Given the description of an element on the screen output the (x, y) to click on. 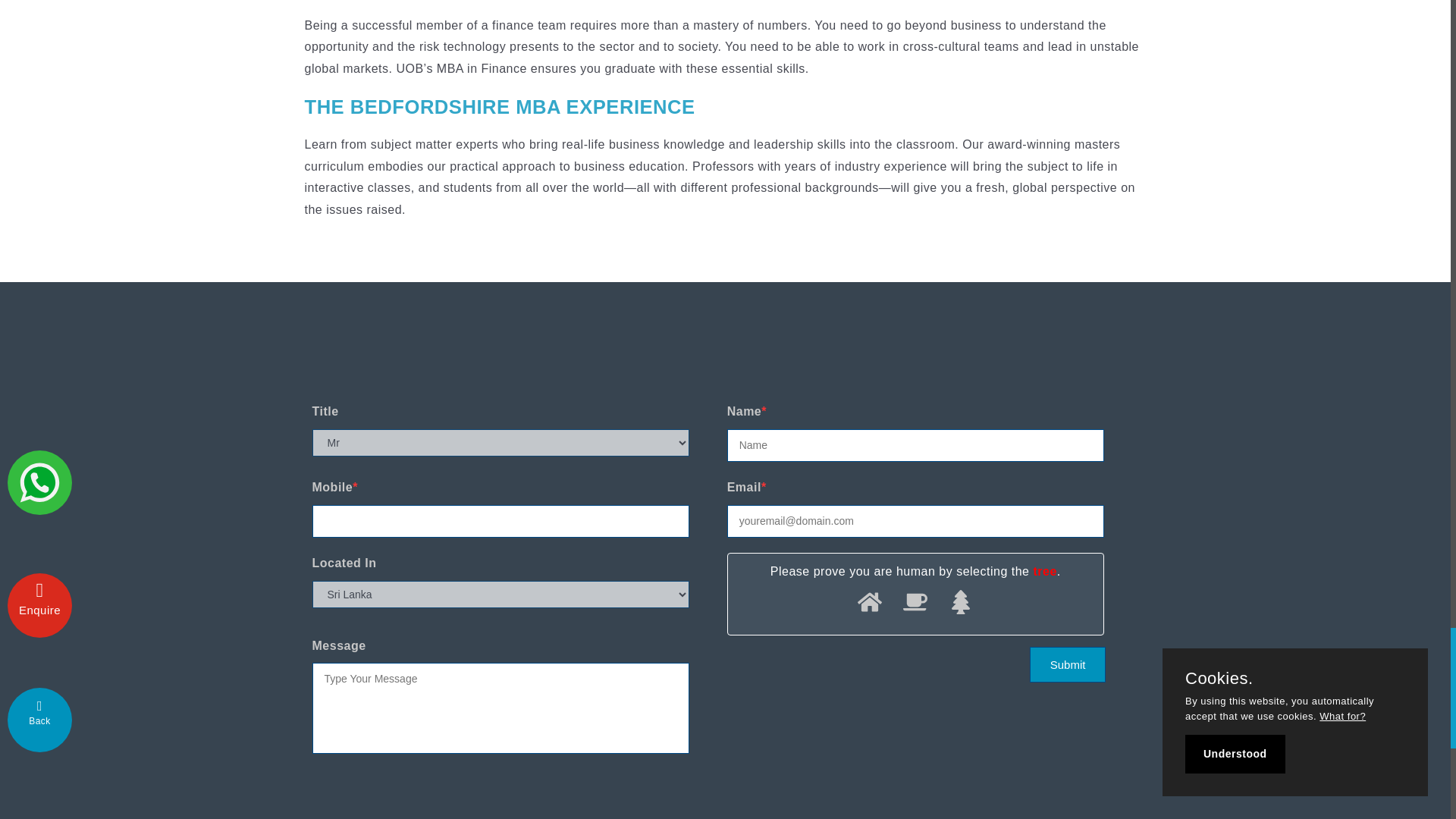
Submit (1067, 664)
